Given the description of an element on the screen output the (x, y) to click on. 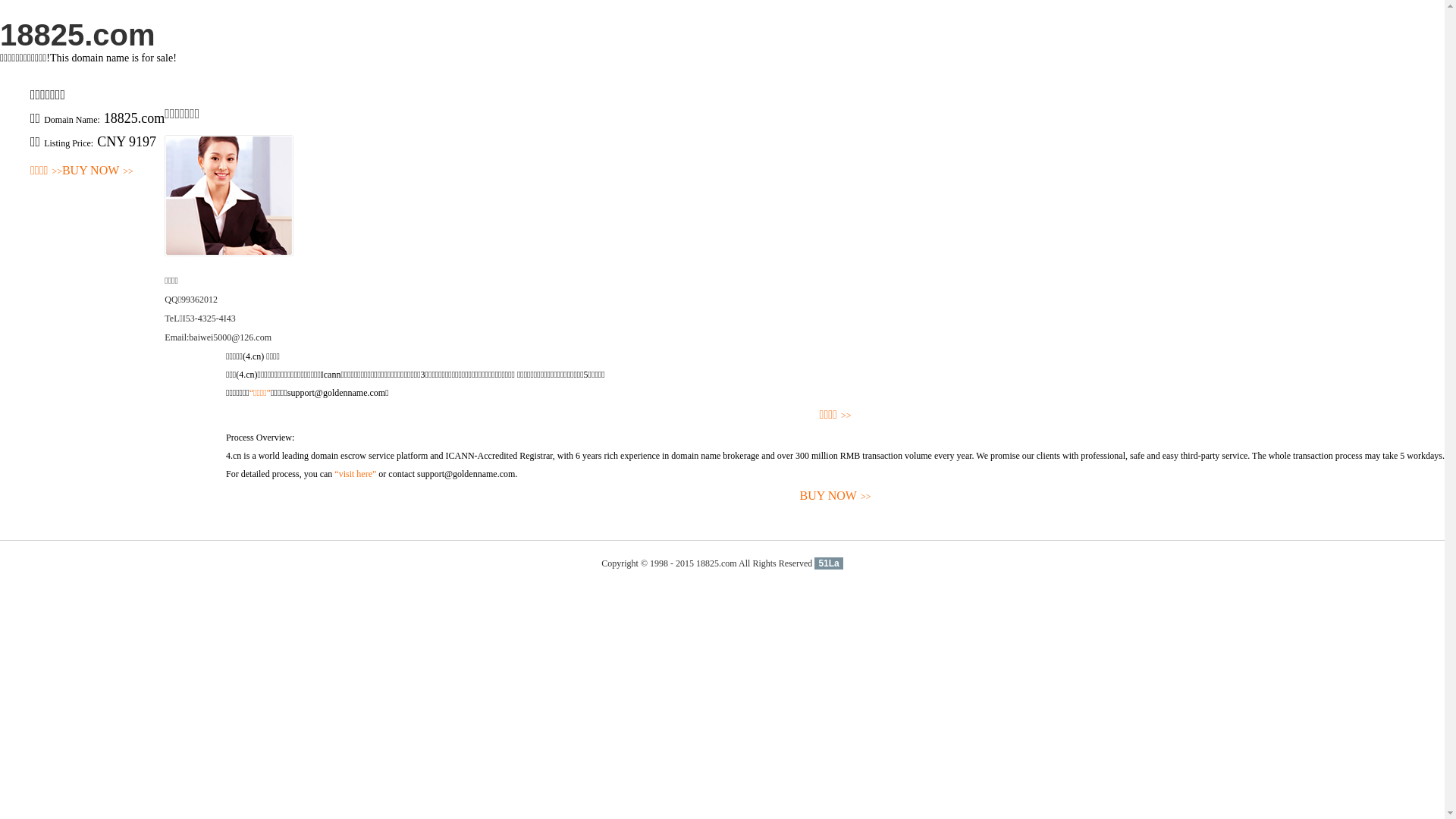
51La Element type: text (828, 563)
BUY NOW>> Element type: text (834, 496)
BUY NOW>> Element type: text (97, 170)
